Given the description of an element on the screen output the (x, y) to click on. 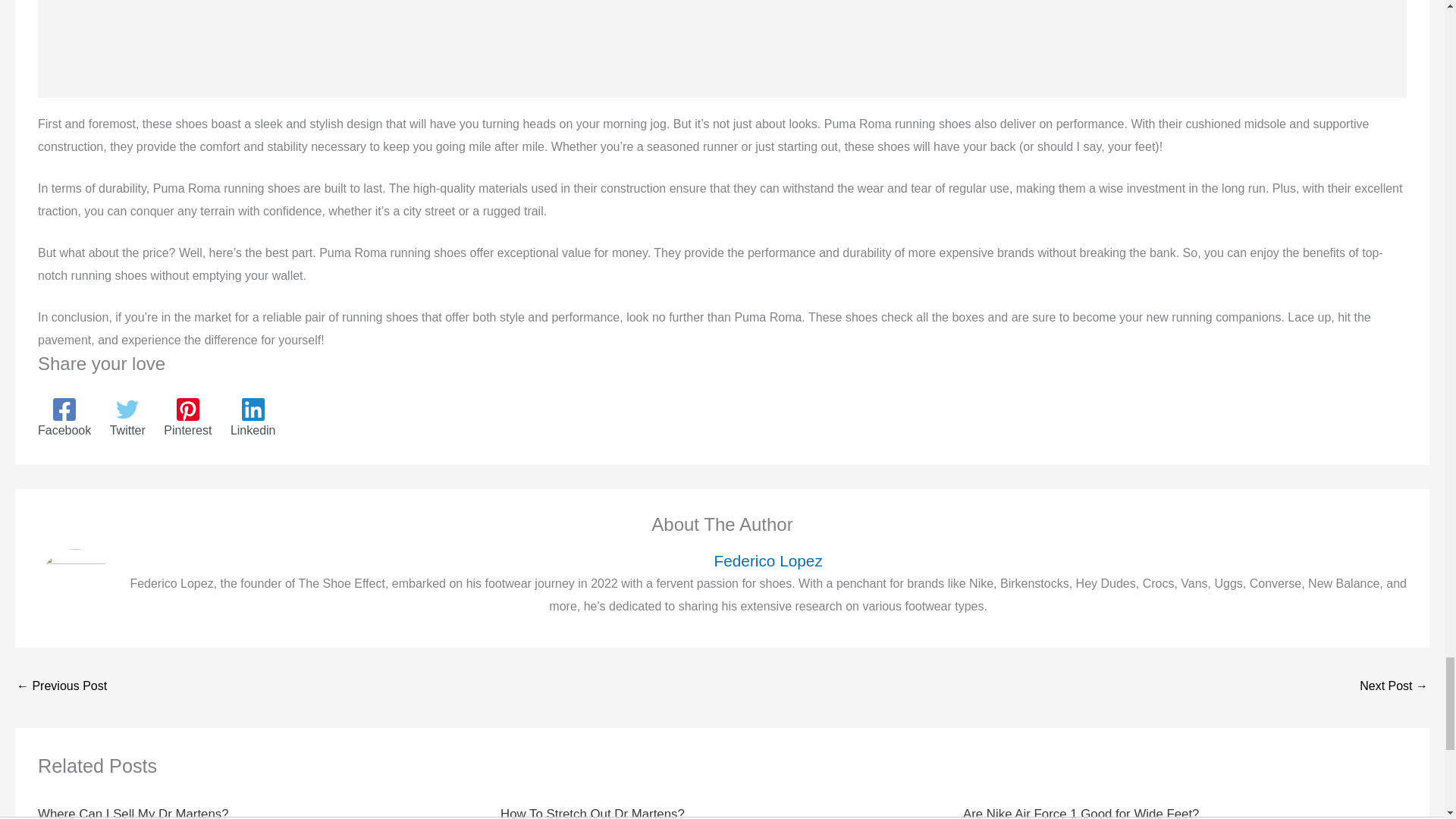
Twitter (127, 417)
Facebook (63, 417)
Retro Elegance: Vintage Burberry T-Bar Shoes In Size 10.5 (61, 687)
Where Can I Sell My Dr Martens? (132, 812)
Pinterest (187, 417)
Are Nike Air Force 1 Good for Wide Feet? (1080, 812)
How To Stretch Out Dr Martens? (592, 812)
Linkedin (253, 417)
What Are Under Armour Smart Shoes? (1393, 687)
Federico Lopez (767, 560)
